Given the description of an element on the screen output the (x, y) to click on. 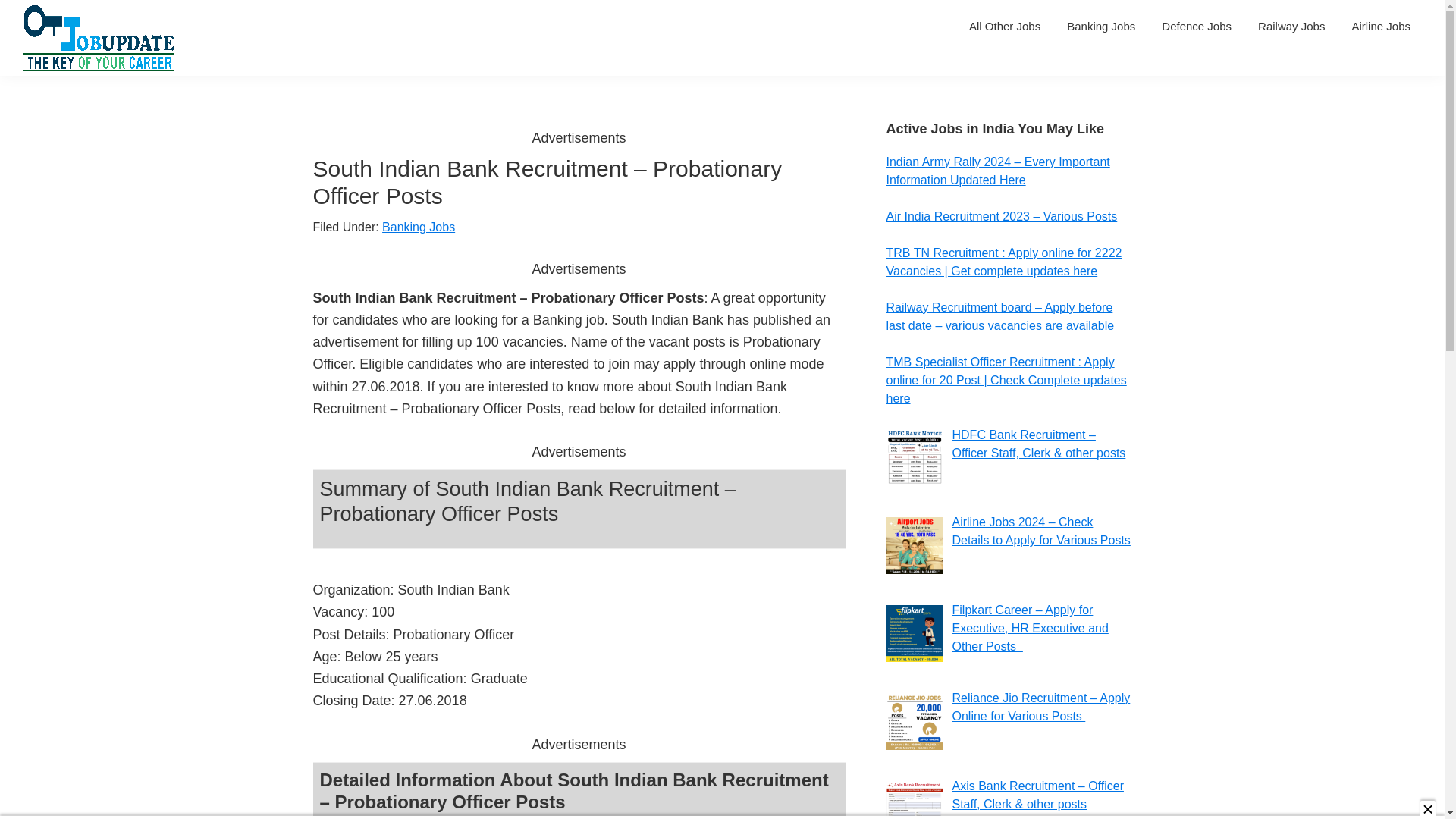
Airline Jobs (1380, 25)
Banking Jobs (1101, 25)
Railway Jobs (1291, 25)
Banking Jobs (417, 226)
All Other Jobs (1004, 25)
Defence Jobs (1196, 25)
